Given the description of an element on the screen output the (x, y) to click on. 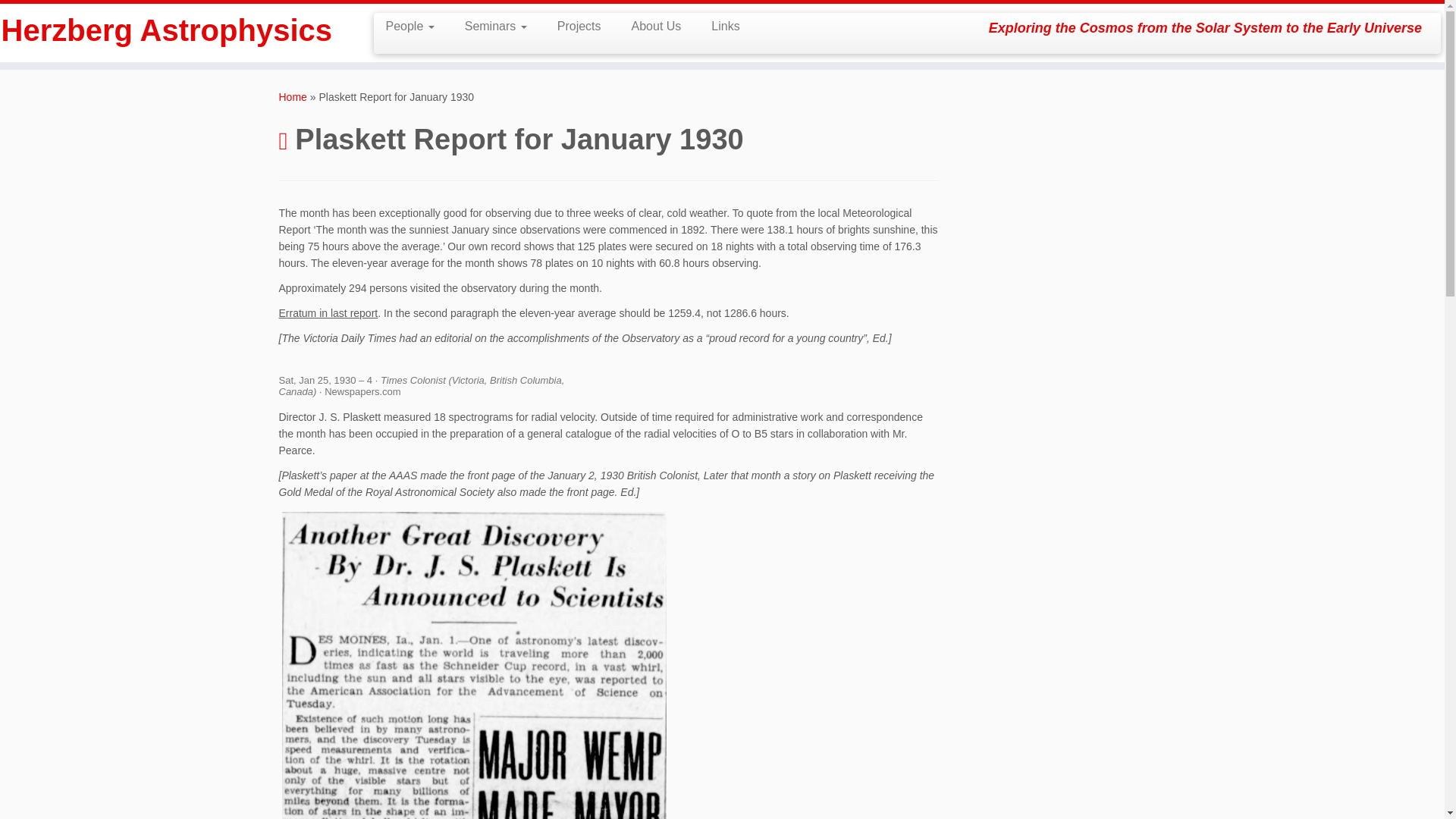
Home (293, 96)
Herzberg Astrophysics (293, 96)
Projects (578, 26)
Seminars (495, 26)
About Us (656, 26)
Herzberg Astrophysics (166, 30)
Links (717, 26)
People (414, 26)
